Given the description of an element on the screen output the (x, y) to click on. 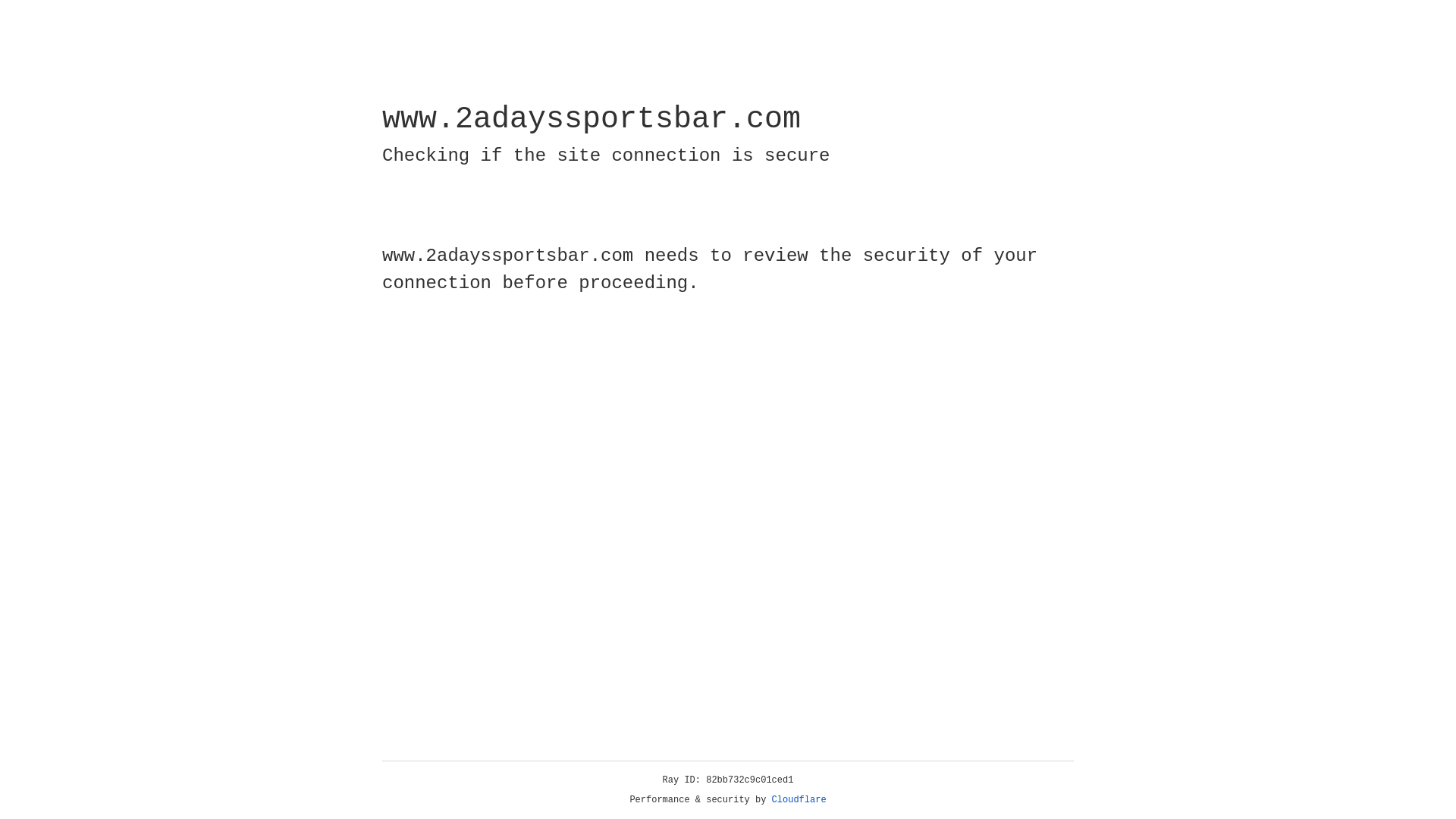
Cloudflare Element type: text (798, 799)
